Given the description of an element on the screen output the (x, y) to click on. 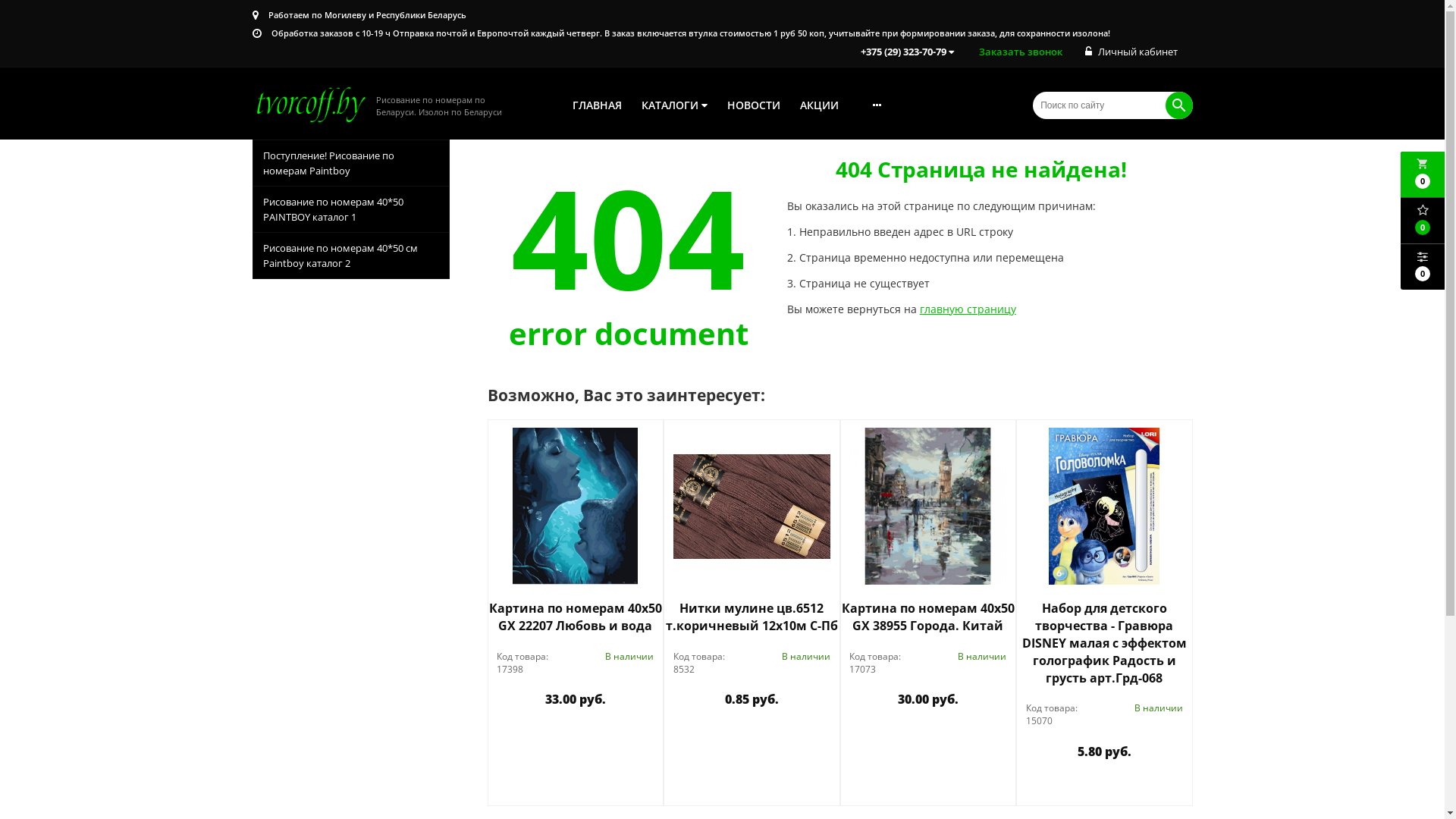
0 Element type: text (1422, 266)
0 Element type: text (1422, 220)
local_grocery_store
0 Element type: text (1422, 174)
+375 (29) 323-70-79 Element type: text (906, 51)
search Element type: text (1178, 105)
